Given the description of an element on the screen output the (x, y) to click on. 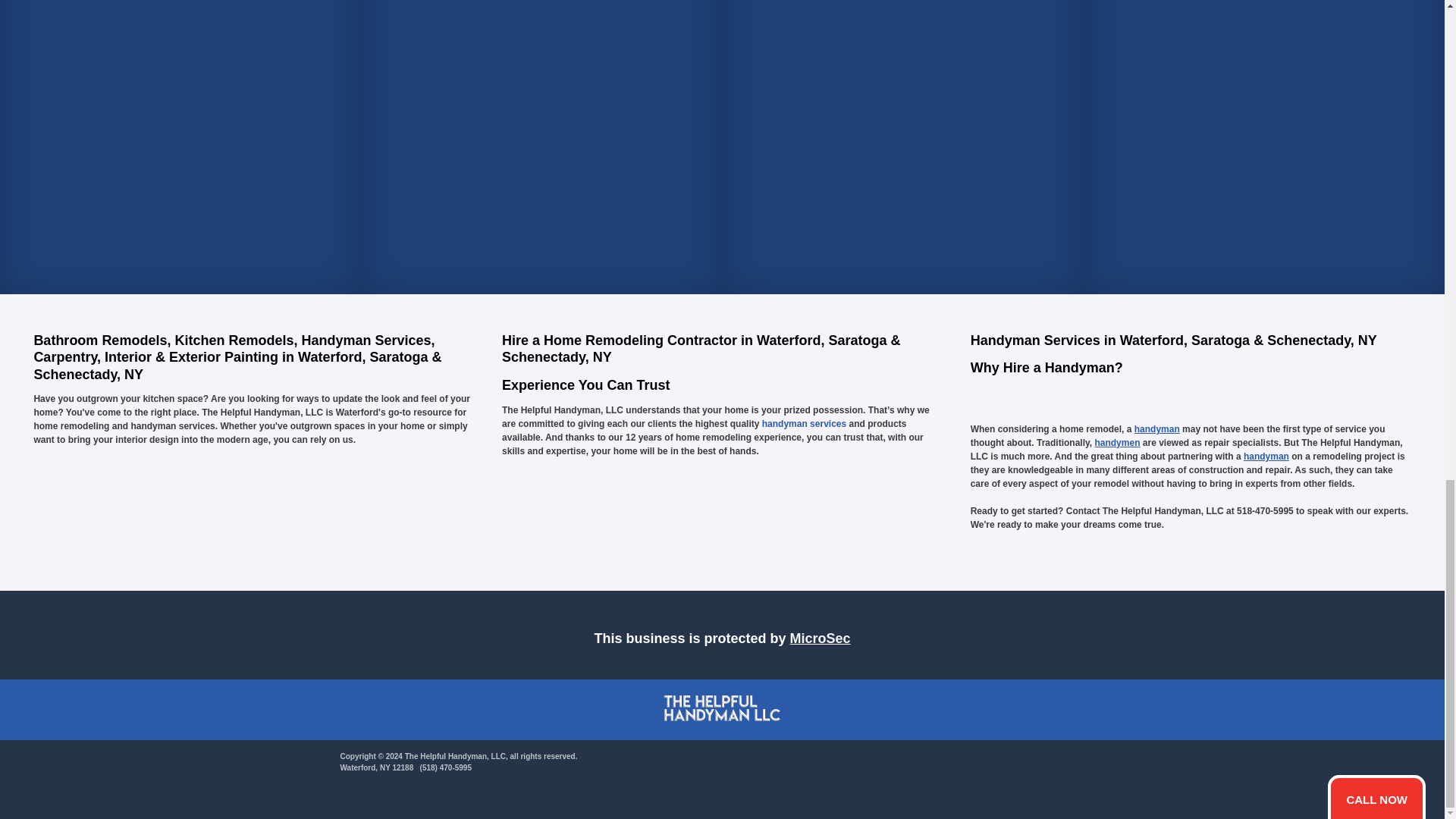
The Helpful Handyman LLC (722, 709)
